Given the description of an element on the screen output the (x, y) to click on. 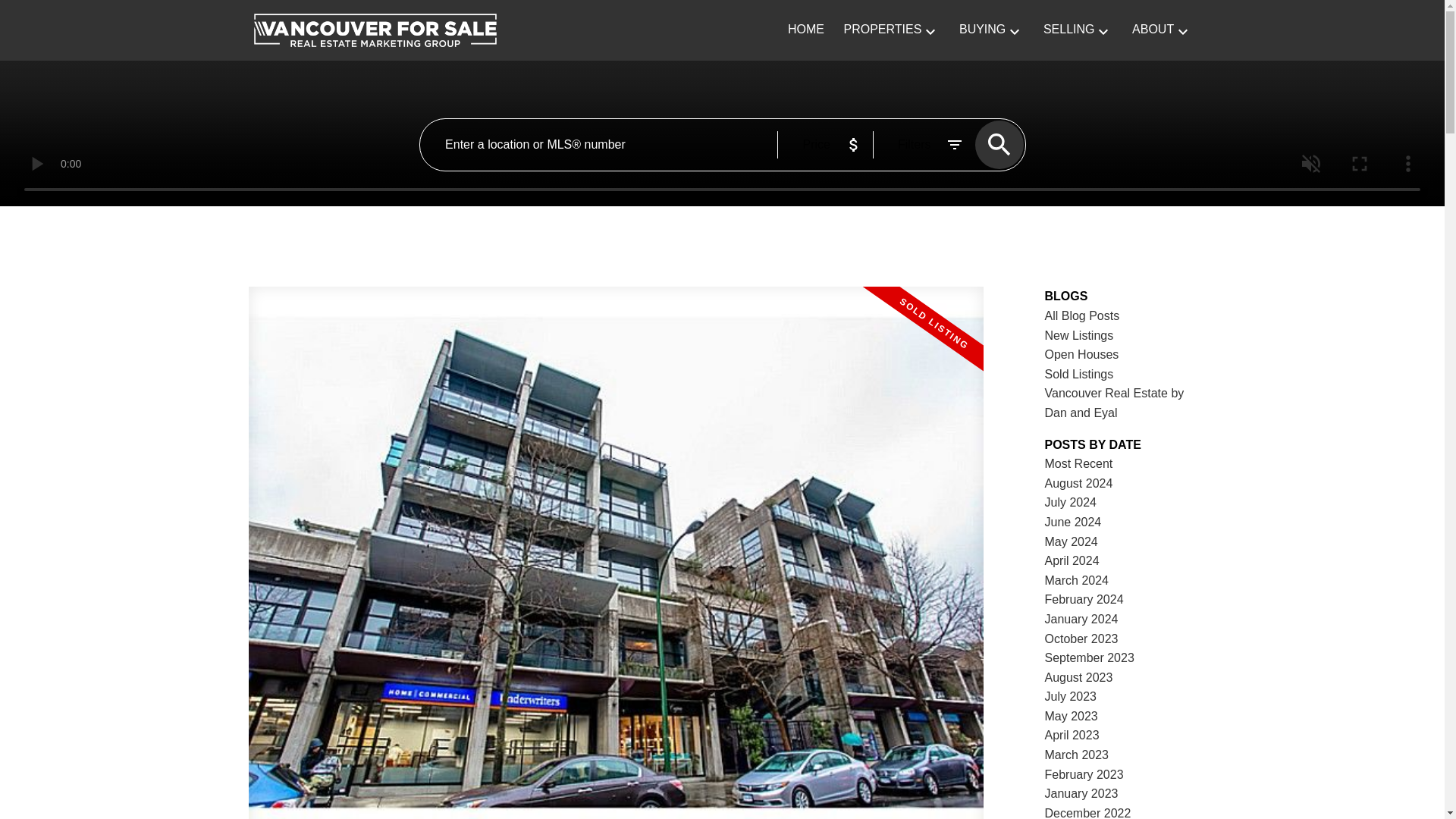
May 2024 (1071, 541)
All Blog Posts (1082, 315)
May 2023 (1071, 716)
New Listings (1079, 335)
August 2024 (1079, 482)
April 2024 (1072, 560)
March 2024 (1077, 580)
Open Houses (1082, 354)
July 2024 (1071, 502)
Vancouver Real Estate by Dan and Eyal (1115, 402)
